Given the description of an element on the screen output the (x, y) to click on. 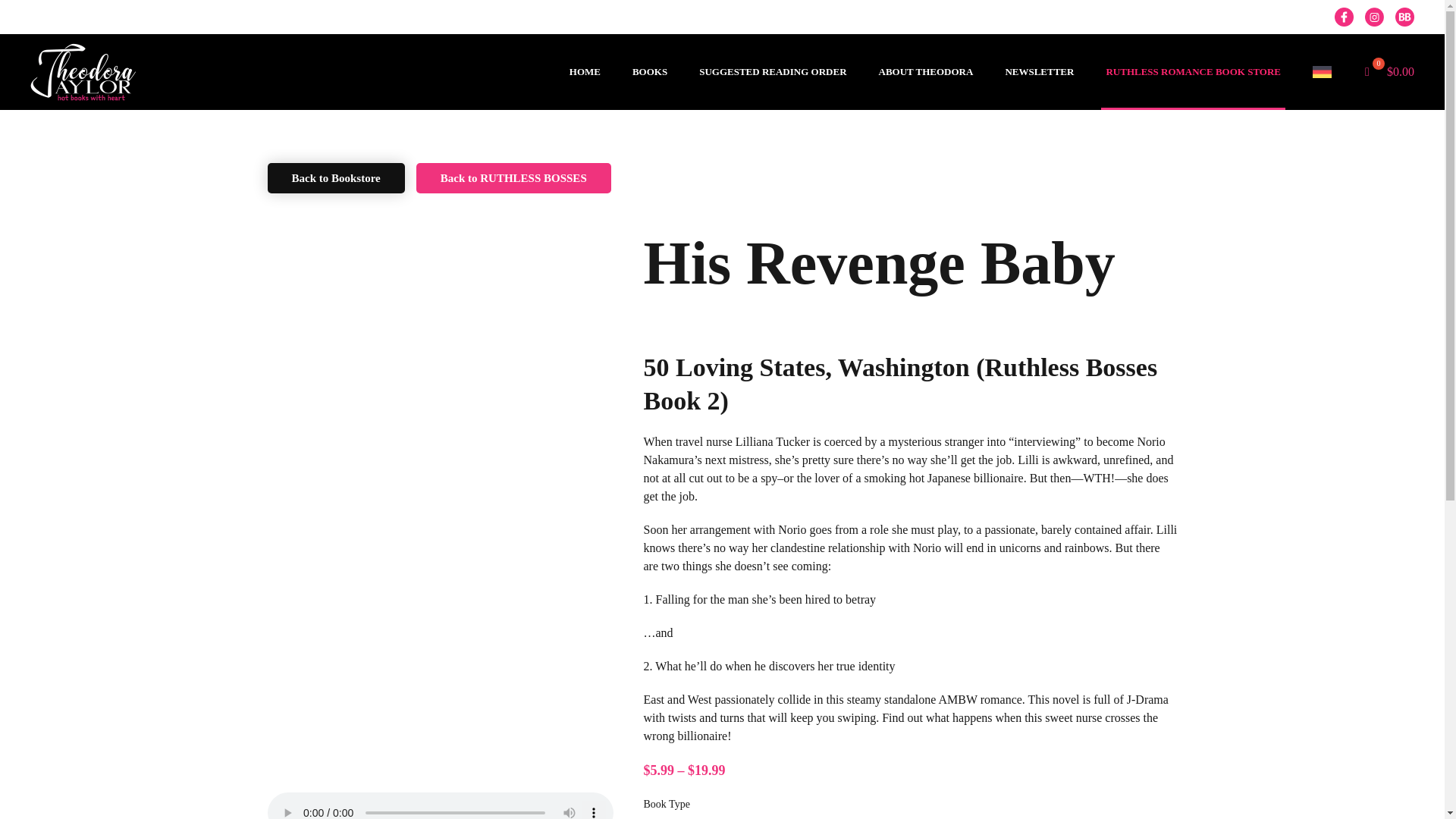
Back to Bookstore (335, 177)
SUGGESTED READING ORDER (772, 71)
Back to RUTHLESS BOSSES (513, 177)
RUTHLESS ROMANCE BOOK STORE (1192, 71)
ABOUT THEODORA (926, 71)
NEWSLETTER (1039, 71)
